Given the description of an element on the screen output the (x, y) to click on. 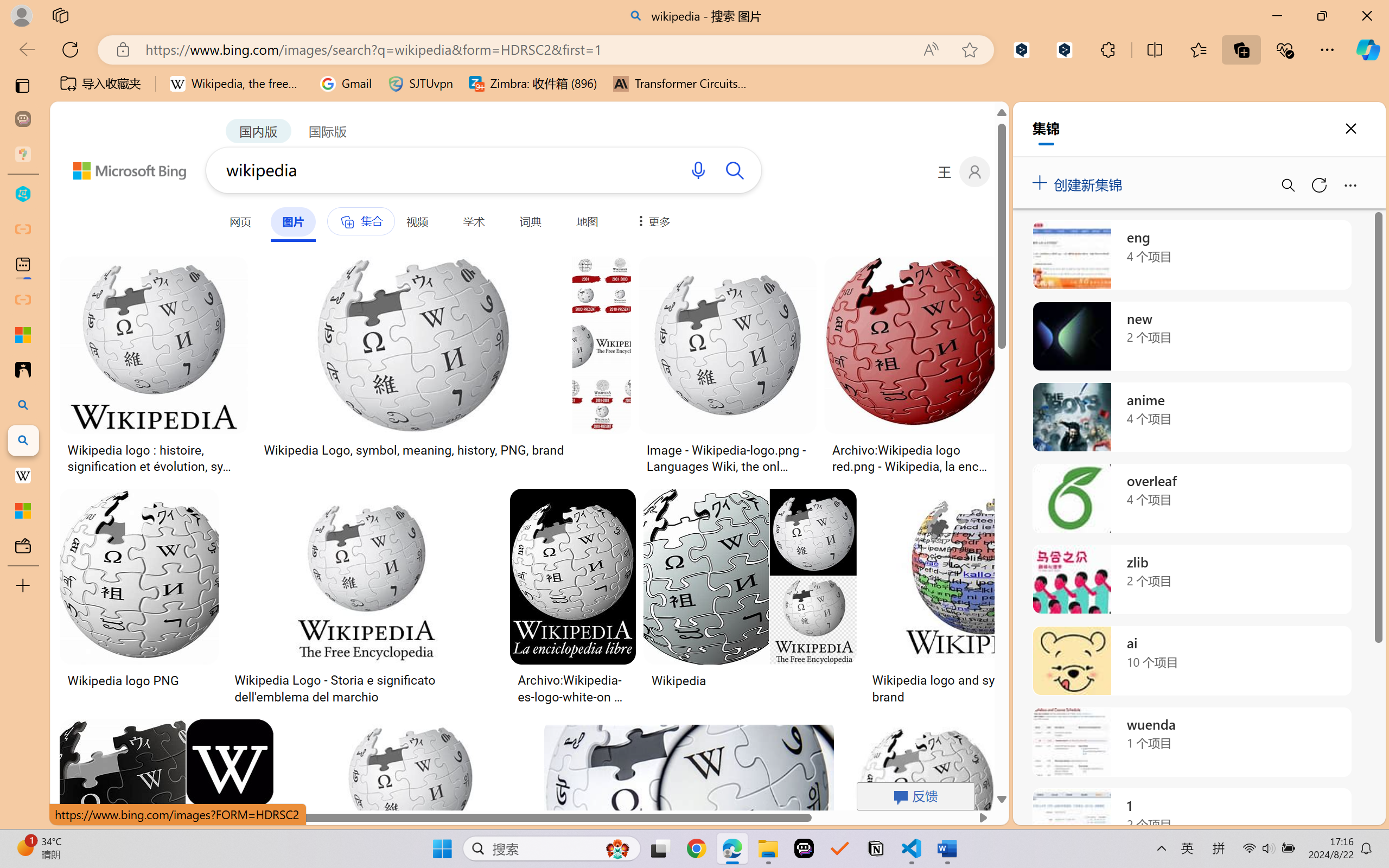
Link Text (381, 74)
Czech (detected) (1256, 136)
Zoom 60% (1364, 837)
